Given the description of an element on the screen output the (x, y) to click on. 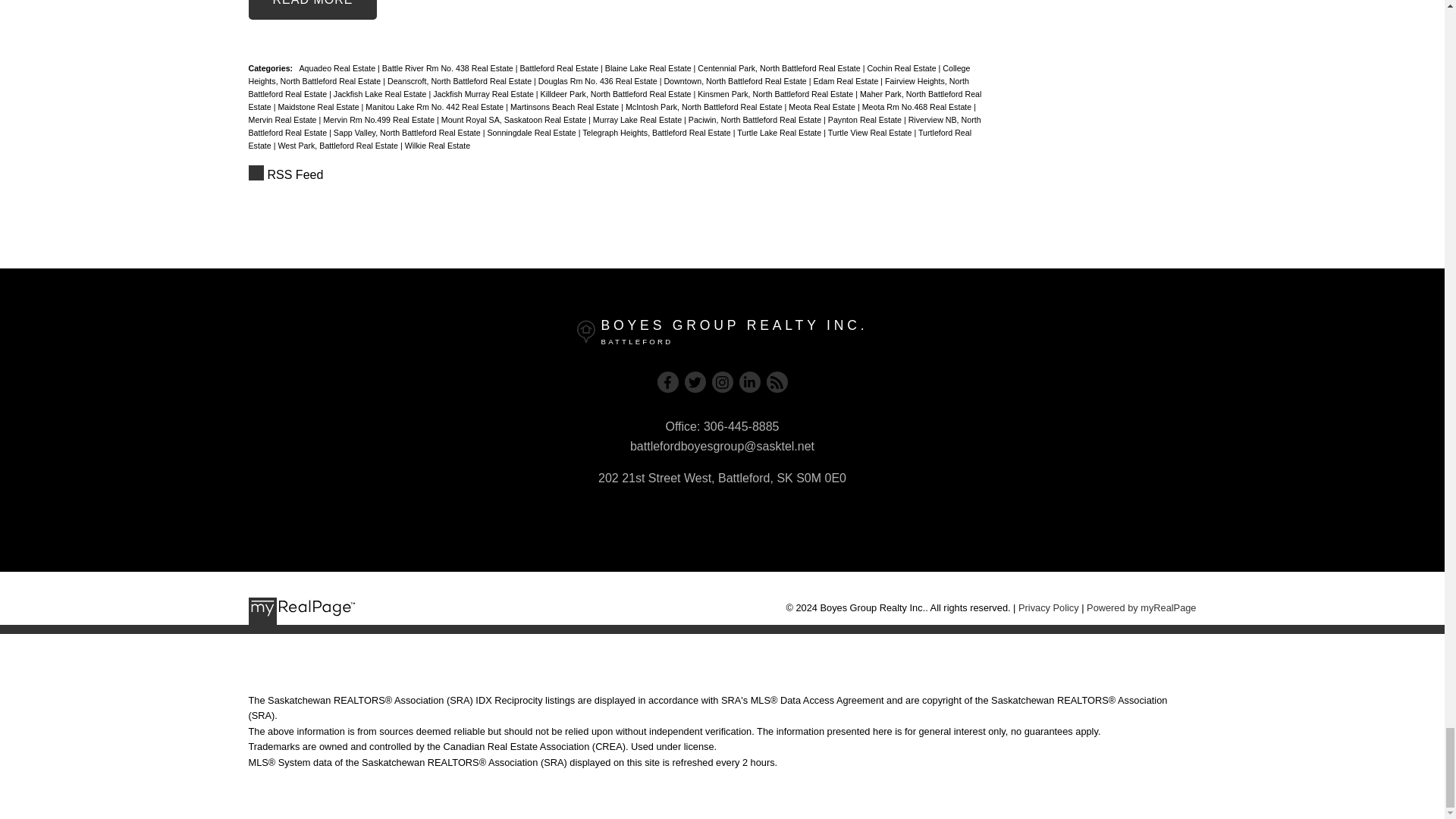
Linkedin (749, 382)
Blog (776, 382)
RSS (616, 175)
Twitter (694, 382)
Instagram (721, 382)
Facebook (667, 382)
